Given the description of an element on the screen output the (x, y) to click on. 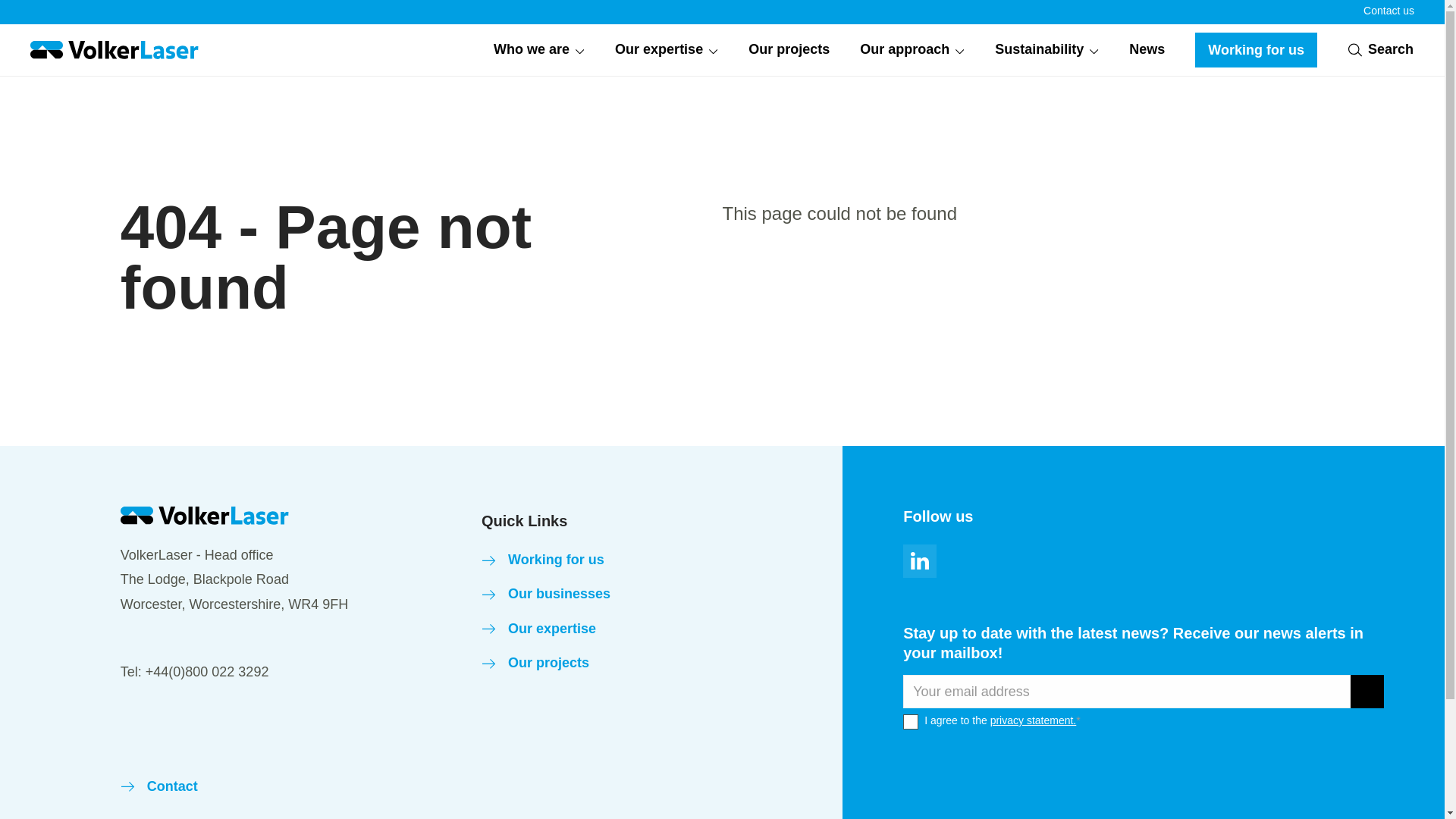
Who we are (539, 50)
Our projects (788, 50)
Search (1380, 49)
Contact us (1387, 10)
Working for us (1256, 49)
Sustainability (1046, 50)
Submit (1367, 691)
Our approach (911, 50)
Our expertise (665, 50)
News (1146, 50)
